Given the description of an element on the screen output the (x, y) to click on. 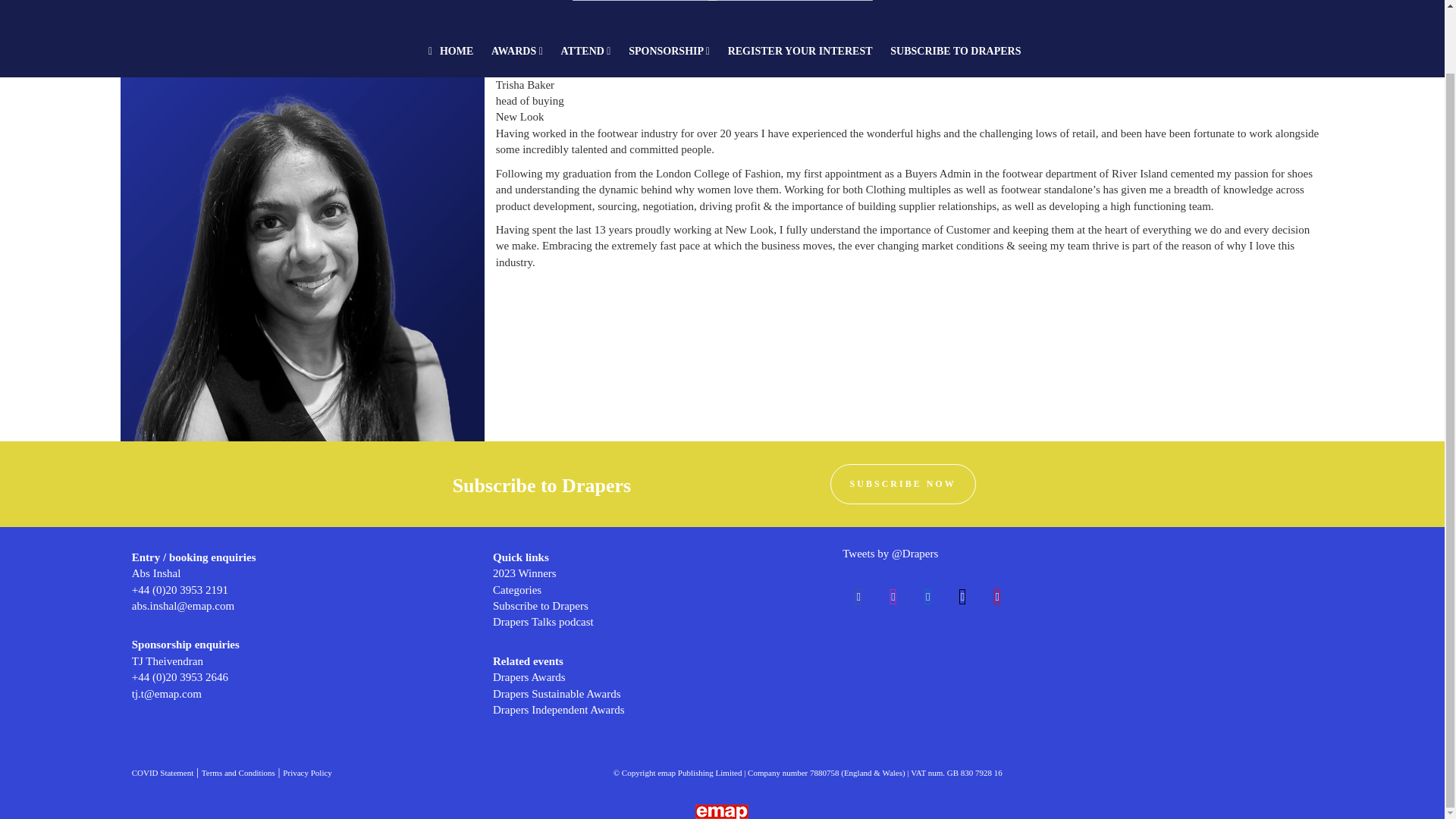
Drapers Awards (529, 676)
Drapers Talks podcast (543, 621)
ATTEND (585, 51)
COVID Statement (162, 772)
Categories (517, 589)
REGISTER YOUR INTEREST (800, 51)
Terms and Conditions (238, 772)
SPONSORSHIP (669, 51)
2023 Winners (524, 573)
AWARDS (516, 51)
